Given the description of an element on the screen output the (x, y) to click on. 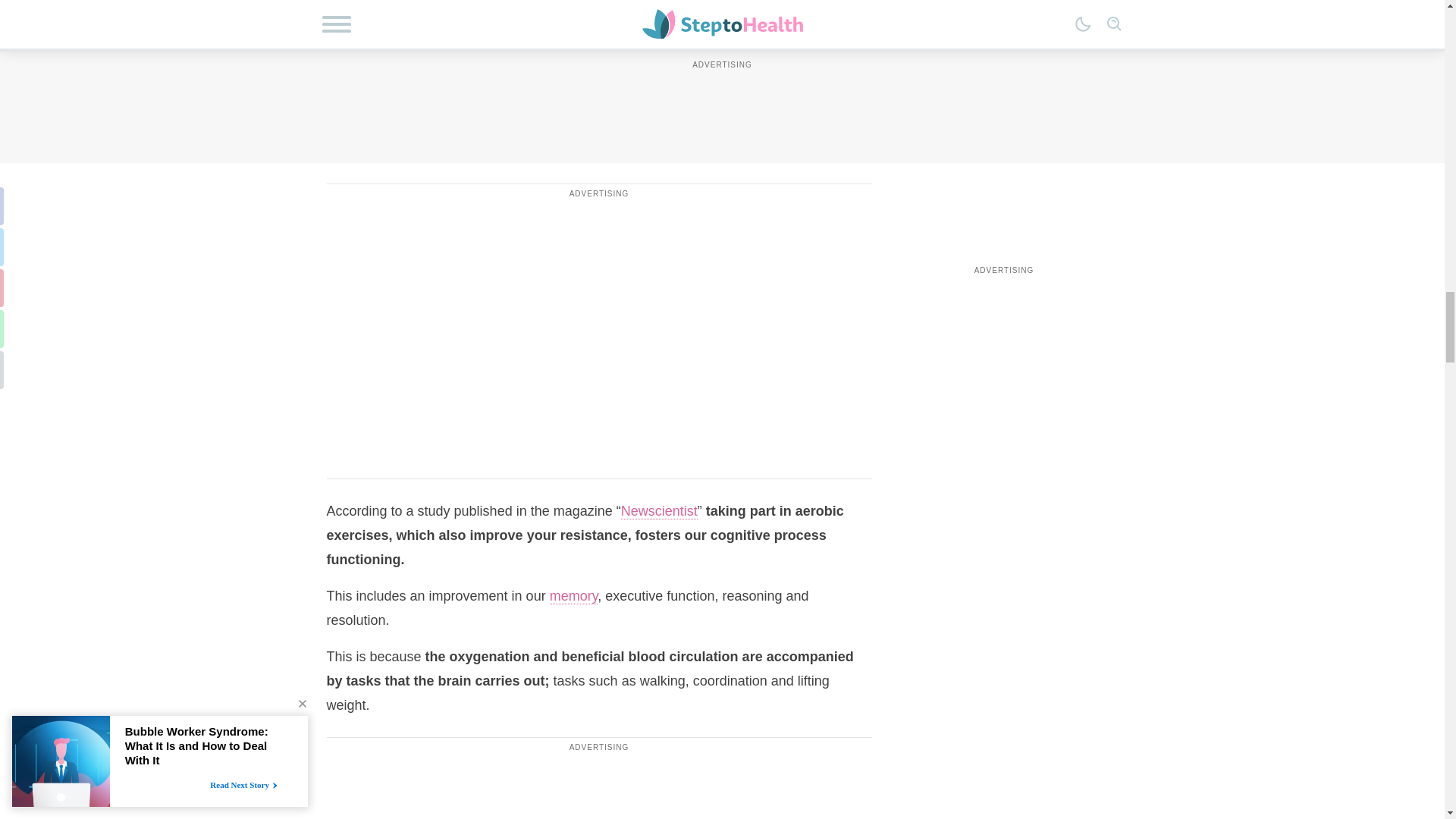
memory (574, 596)
Newscientist (659, 511)
